Given the description of an element on the screen output the (x, y) to click on. 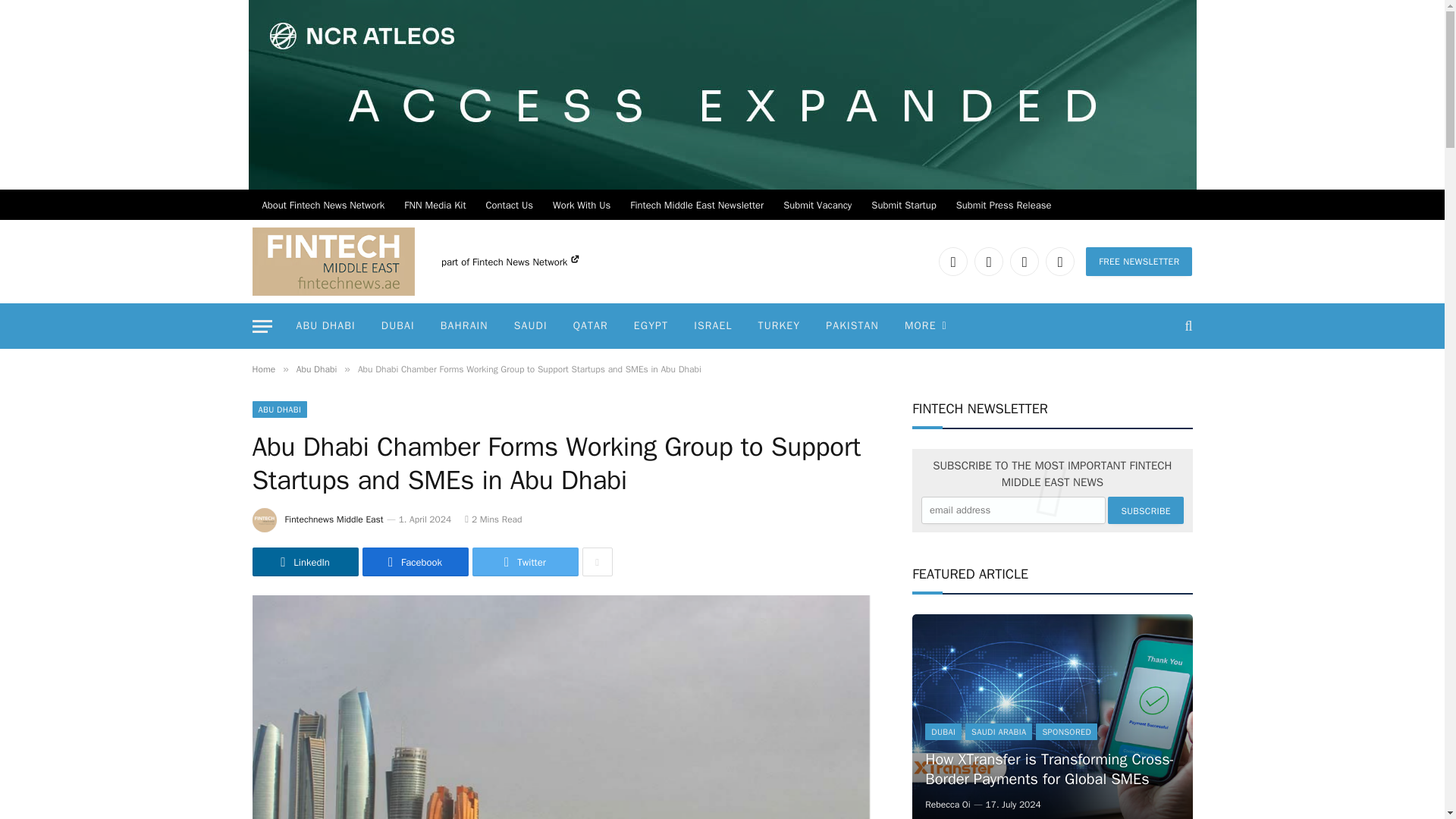
Posts by Fintechnews Middle East (334, 519)
Submit Press Release (1003, 204)
Share on Facebook (415, 561)
EGYPT (651, 325)
Facebook (988, 261)
Fintech Middle East Newsletter (696, 204)
FNN Media Kit (435, 204)
About Fintech News Network (322, 204)
Submit Vacancy (817, 204)
FREE NEWSLETTER (1139, 261)
DUBAI (398, 325)
Work With Us (581, 204)
RSS (1059, 261)
Search (1186, 326)
Show More Social Sharing (597, 561)
